Given the description of an element on the screen output the (x, y) to click on. 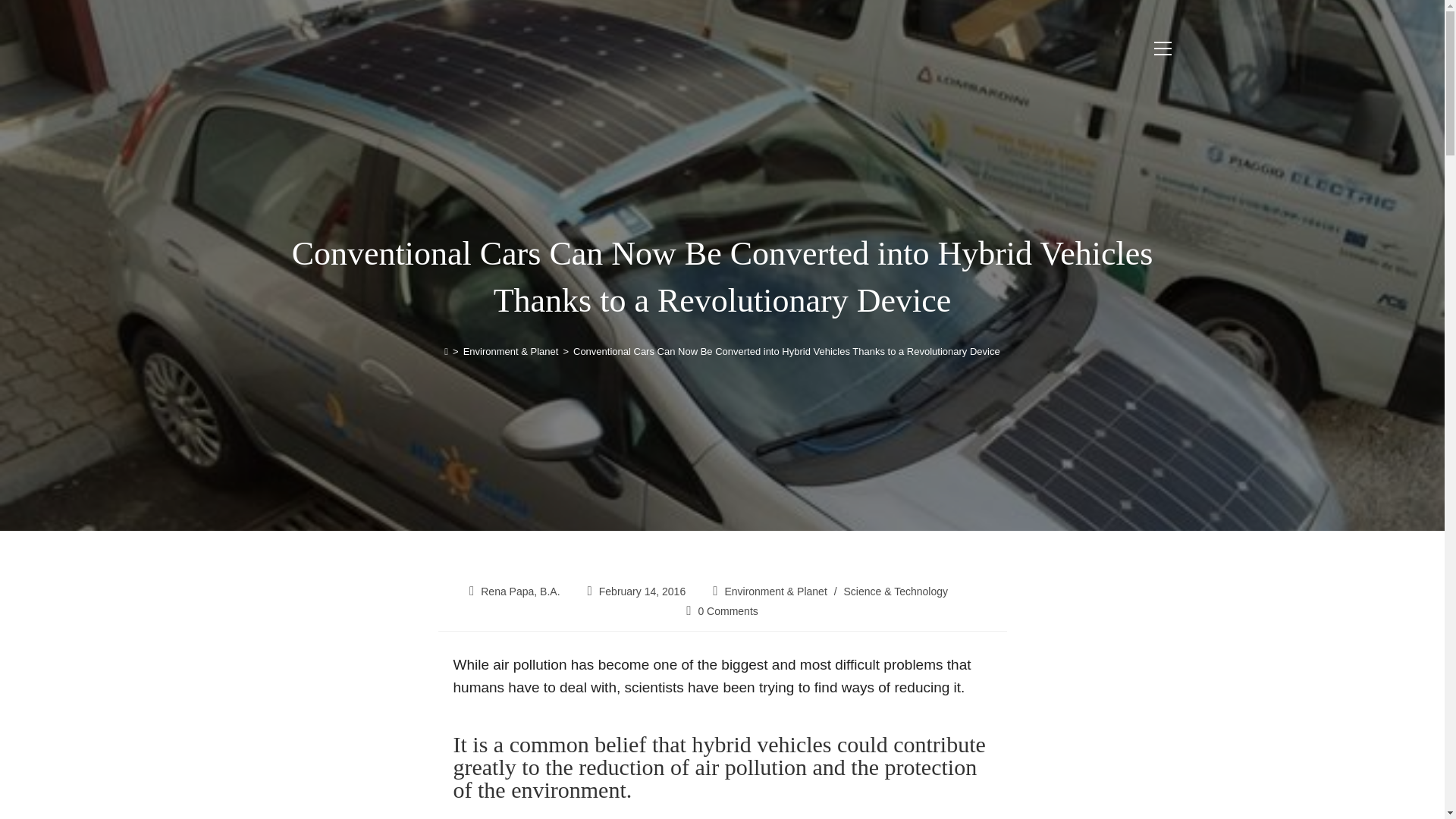
Posts by Rena Papa, B.A. (519, 591)
View website Menu (1162, 47)
